Given the description of an element on the screen output the (x, y) to click on. 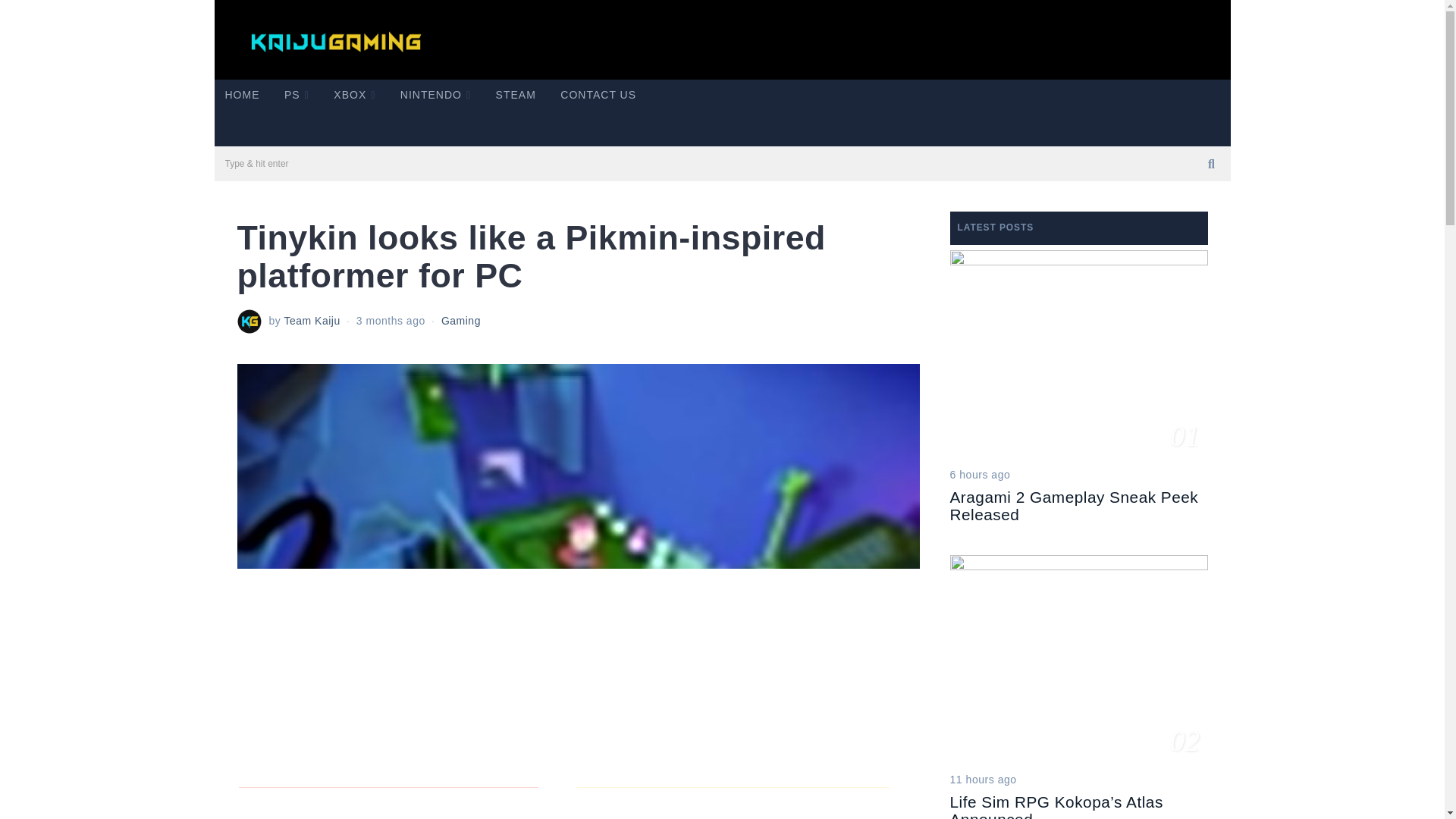
STEAM (515, 94)
Gaming (460, 320)
HOME (241, 94)
CONTACT US (598, 94)
Go (1211, 164)
Team Kaiju (311, 320)
NINTENDO (435, 94)
XBOX (354, 94)
PS (296, 94)
